Given the description of an element on the screen output the (x, y) to click on. 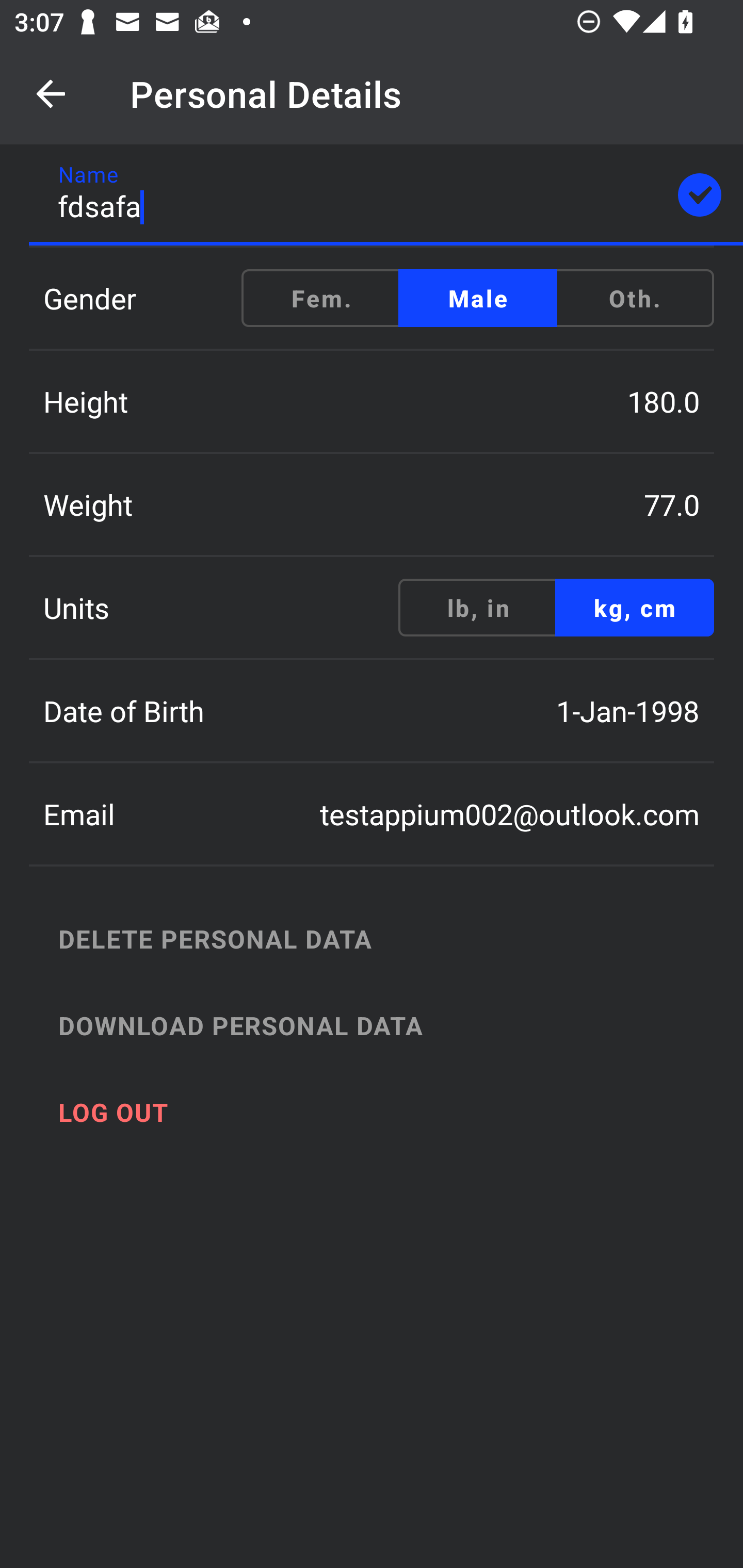
fdsafa (385, 195)
Fem. (320, 298)
Male (477, 298)
Oth. (634, 298)
Height 180.0 (371, 401)
Weight 77.0 (371, 504)
lb, in (477, 607)
kg, cm (634, 607)
Date of Birth 1-Jan-1998 (371, 711)
Email testappium002@outlook.com (371, 813)
DELETE PERSONAL DATA (393, 938)
DOWNLOAD PERSONAL DATA (393, 1025)
LOG OUT (393, 1112)
